Given the description of an element on the screen output the (x, y) to click on. 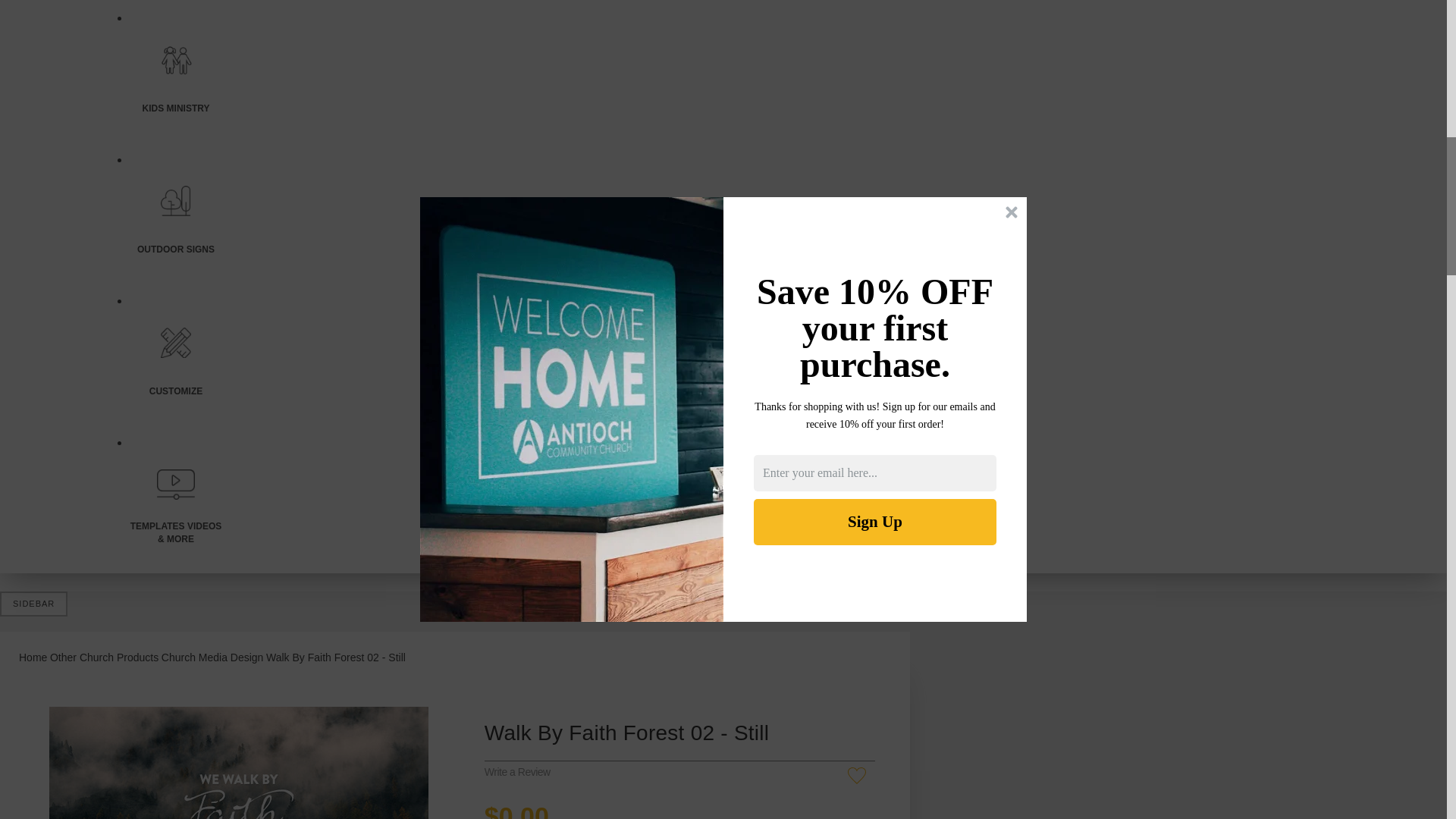
Add to Wish List (859, 781)
church media still faith (238, 762)
